Given the description of an element on the screen output the (x, y) to click on. 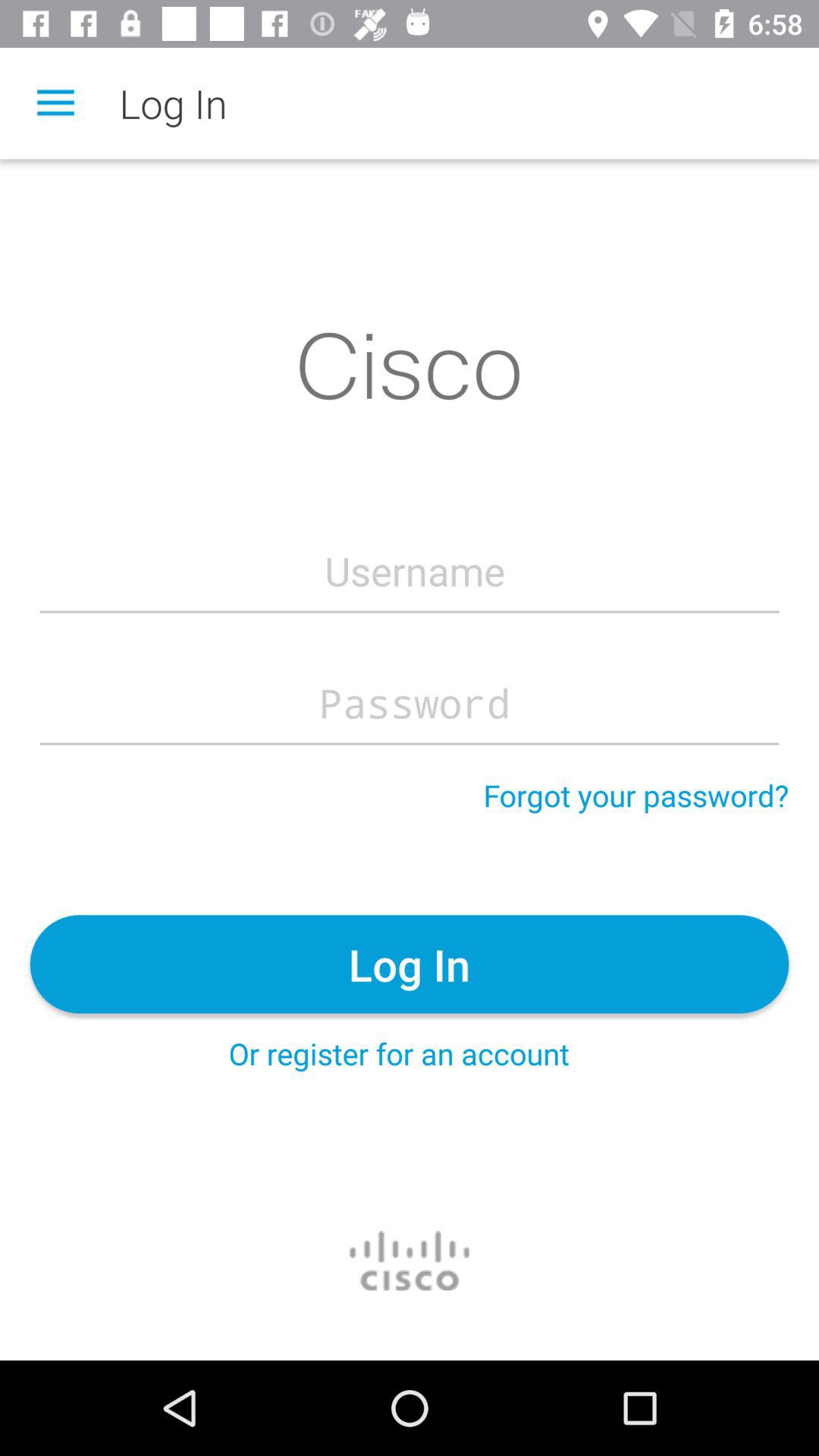
select forgot your password? on the right (635, 795)
